Given the description of an element on the screen output the (x, y) to click on. 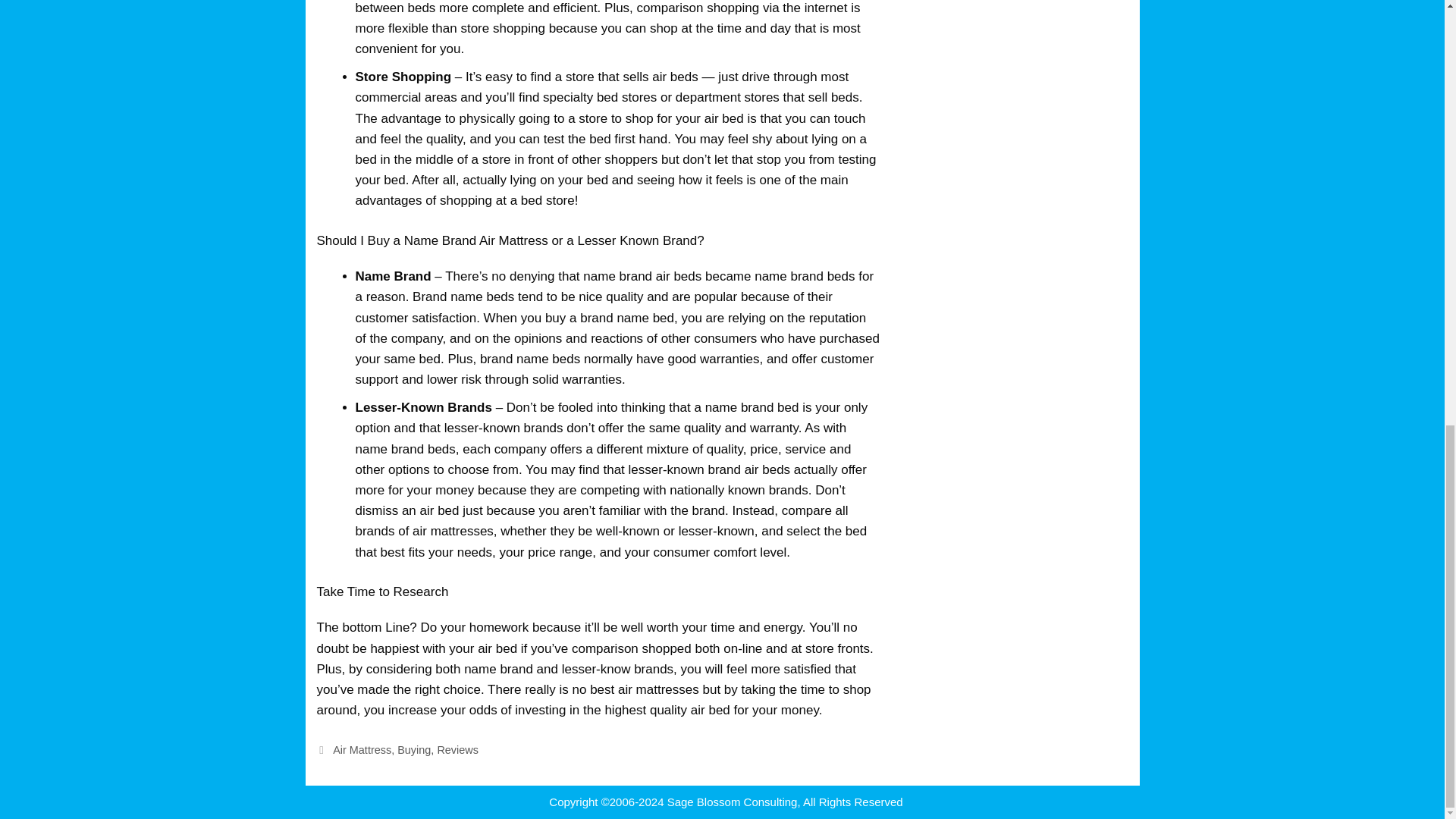
Buying (413, 749)
Air Mattress (362, 749)
Reviews (457, 749)
